Given the description of an element on the screen output the (x, y) to click on. 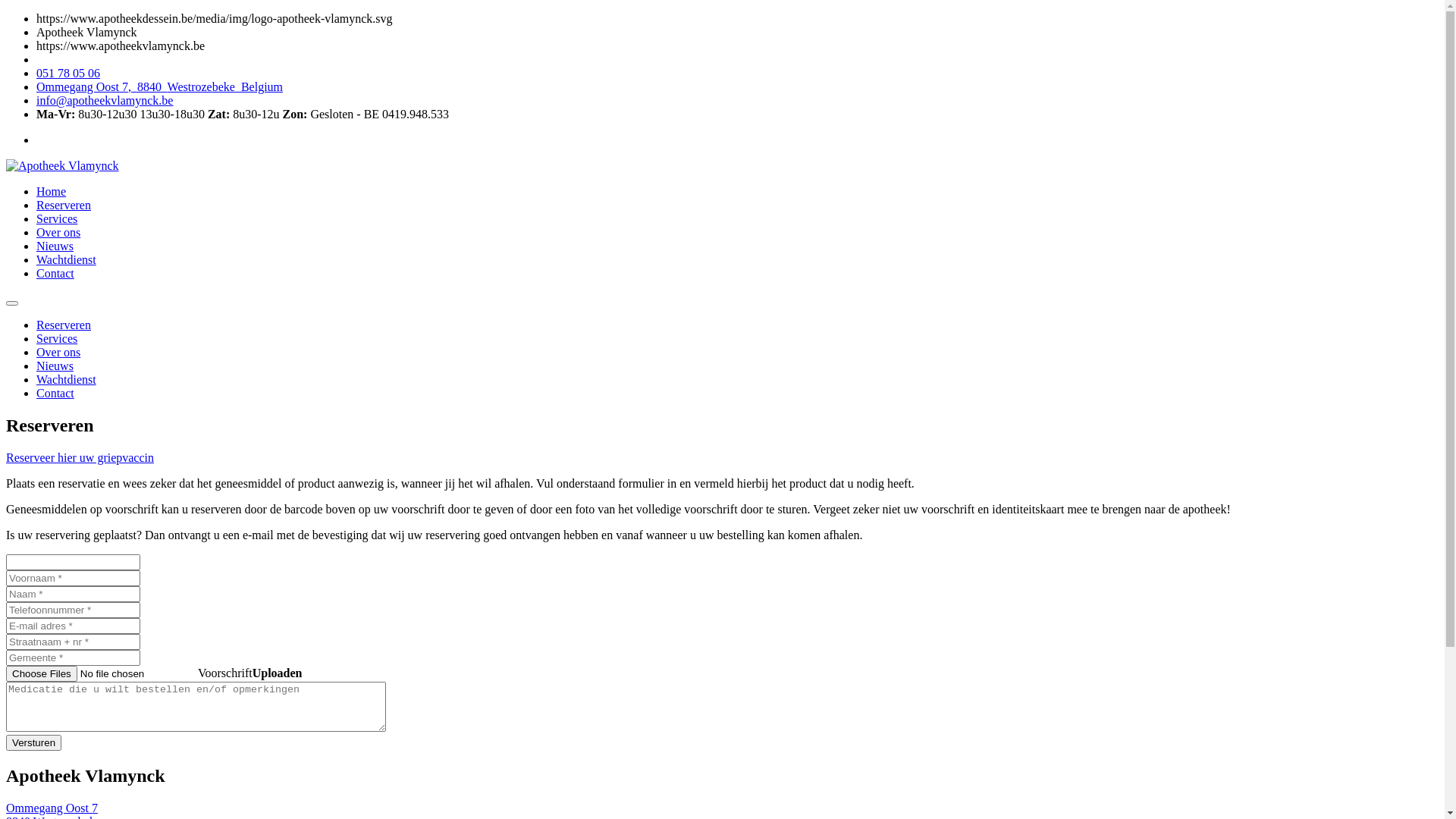
Wachtdienst Element type: text (66, 259)
Nieuws Element type: text (54, 365)
Ommegang Oost 7,  8840  Westrozebeke  Belgium Element type: text (159, 86)
Reserveer hier uw griepvaccin Element type: text (79, 457)
Services Element type: text (56, 338)
info@apotheekvlamynck.be Element type: text (104, 100)
Wachtdienst Element type: text (66, 379)
Versturen Element type: text (33, 742)
Reserveren Element type: text (63, 324)
051 78 05 06 Element type: text (68, 72)
Home Element type: text (50, 191)
Services Element type: text (56, 218)
Reserveren Element type: text (63, 204)
Over ons Element type: text (58, 231)
Contact Element type: text (55, 392)
Over ons Element type: text (58, 351)
Nieuws Element type: text (54, 245)
Contact Element type: text (55, 272)
